Given the description of an element on the screen output the (x, y) to click on. 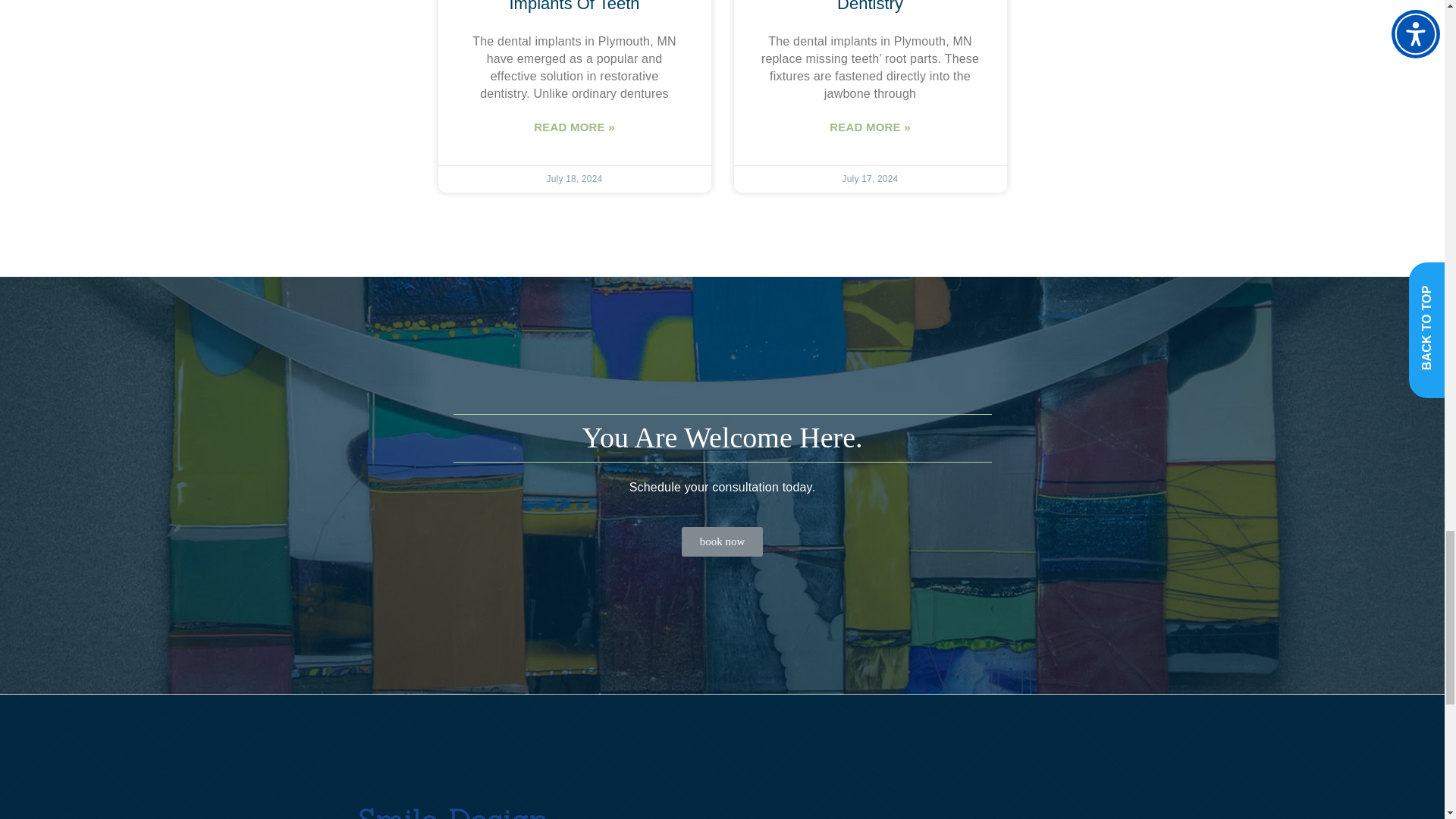
Smile Design Dentistry, Plymouth, MN (885, 794)
